Given the description of an element on the screen output the (x, y) to click on. 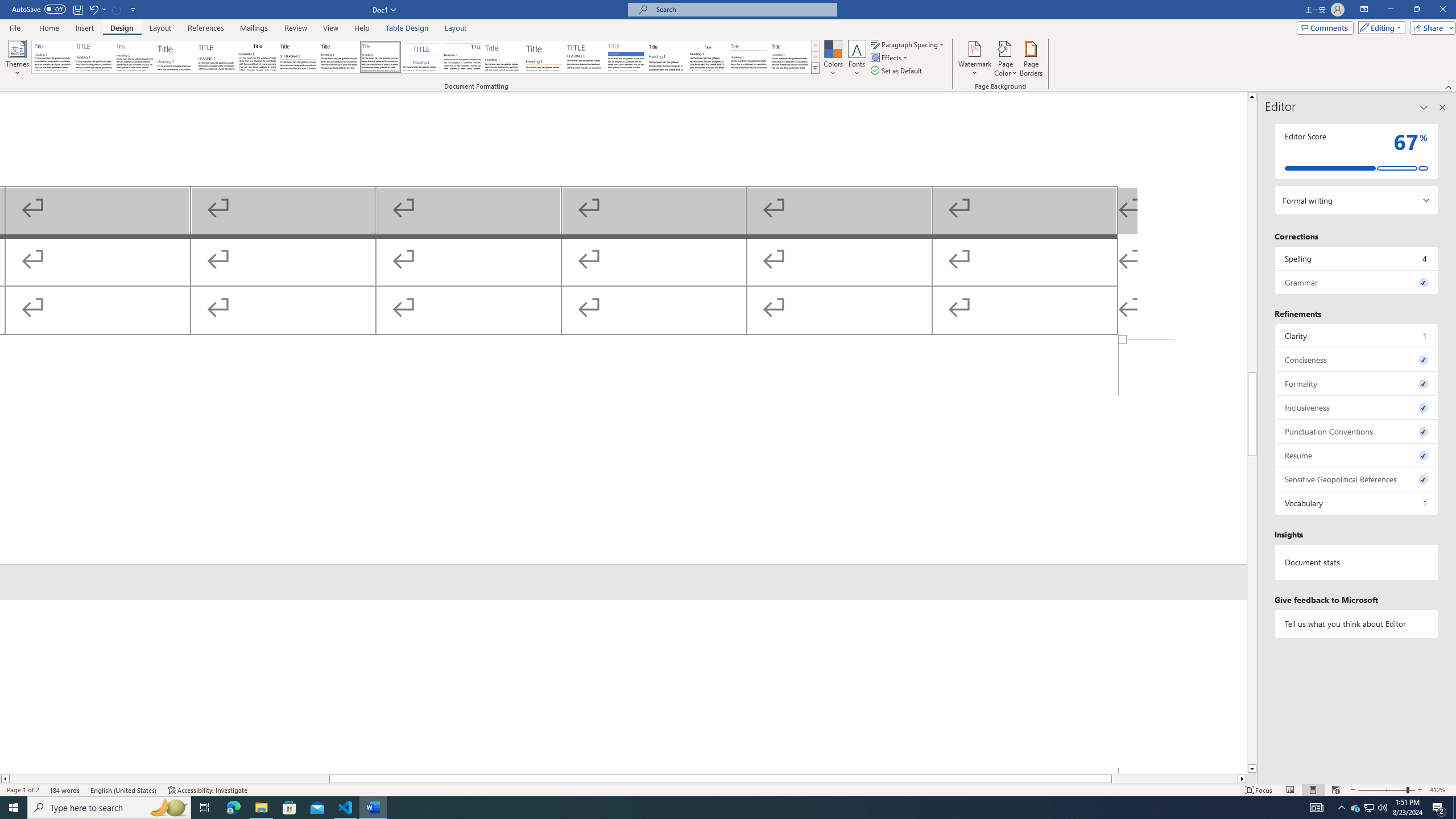
Page Borders... (1031, 58)
Colors (832, 58)
Themes (17, 58)
Paragraph Spacing (908, 44)
Document (52, 56)
AutomationID: QuickStylesSets (425, 56)
Page left (169, 778)
Casual (379, 56)
Page Number Page 1 of 2 (22, 790)
Basic (Stylish) (175, 56)
